Given the description of an element on the screen output the (x, y) to click on. 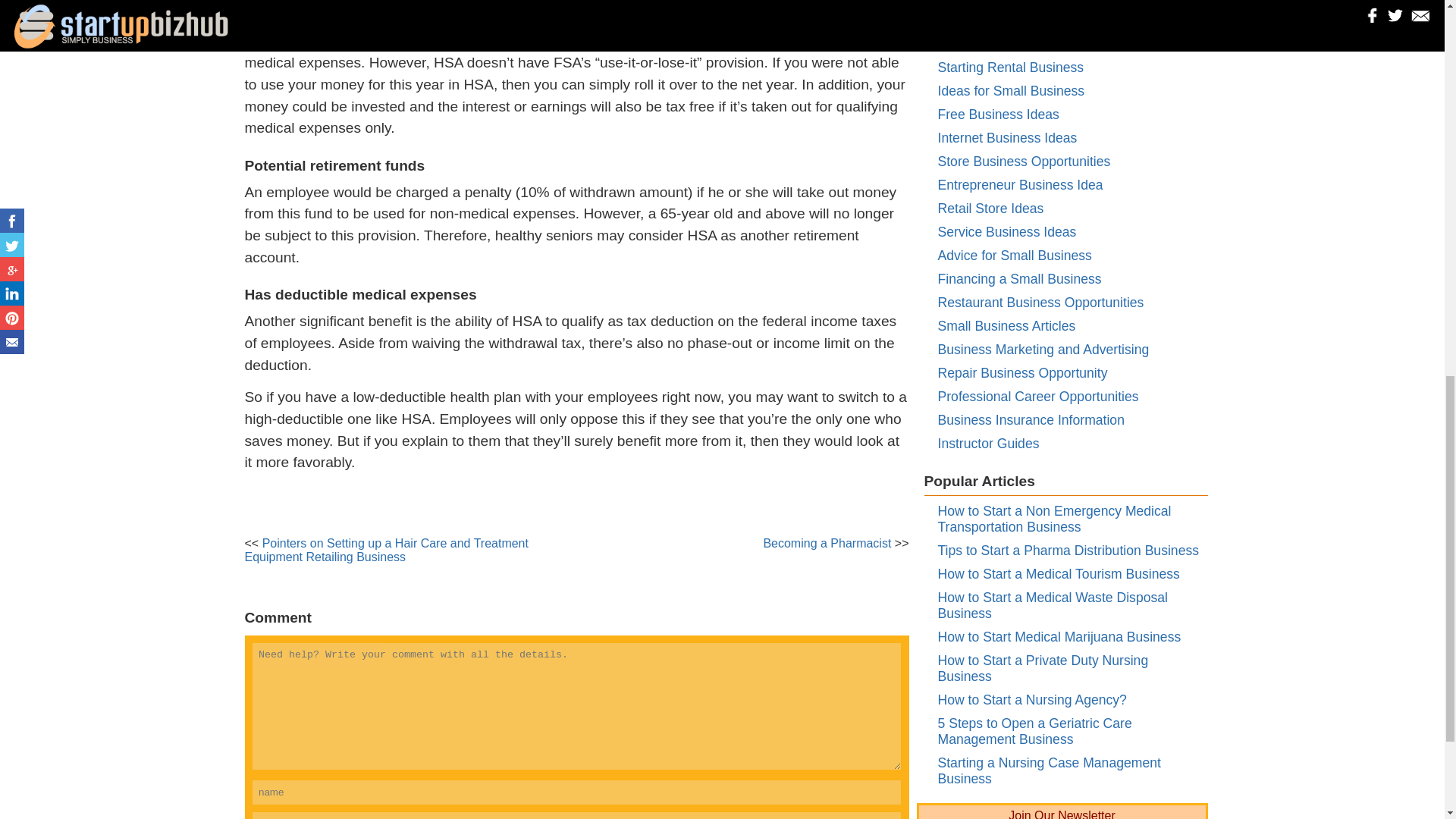
Retail Store Ideas (990, 208)
Internet Business Ideas (1007, 137)
Rural Business Opportunities (1023, 20)
Free Business Ideas (997, 114)
Ideas for Small Business (1010, 90)
Becoming a Pharmacist (826, 543)
Service Business Ideas (1006, 231)
Starting Rental Business (1010, 67)
Entrepreneur Business Idea (1019, 184)
Store Business Opportunities (1023, 160)
Tips for Buying and Selling (1016, 43)
Home Based Business Opportunity (1040, 2)
